Given the description of an element on the screen output the (x, y) to click on. 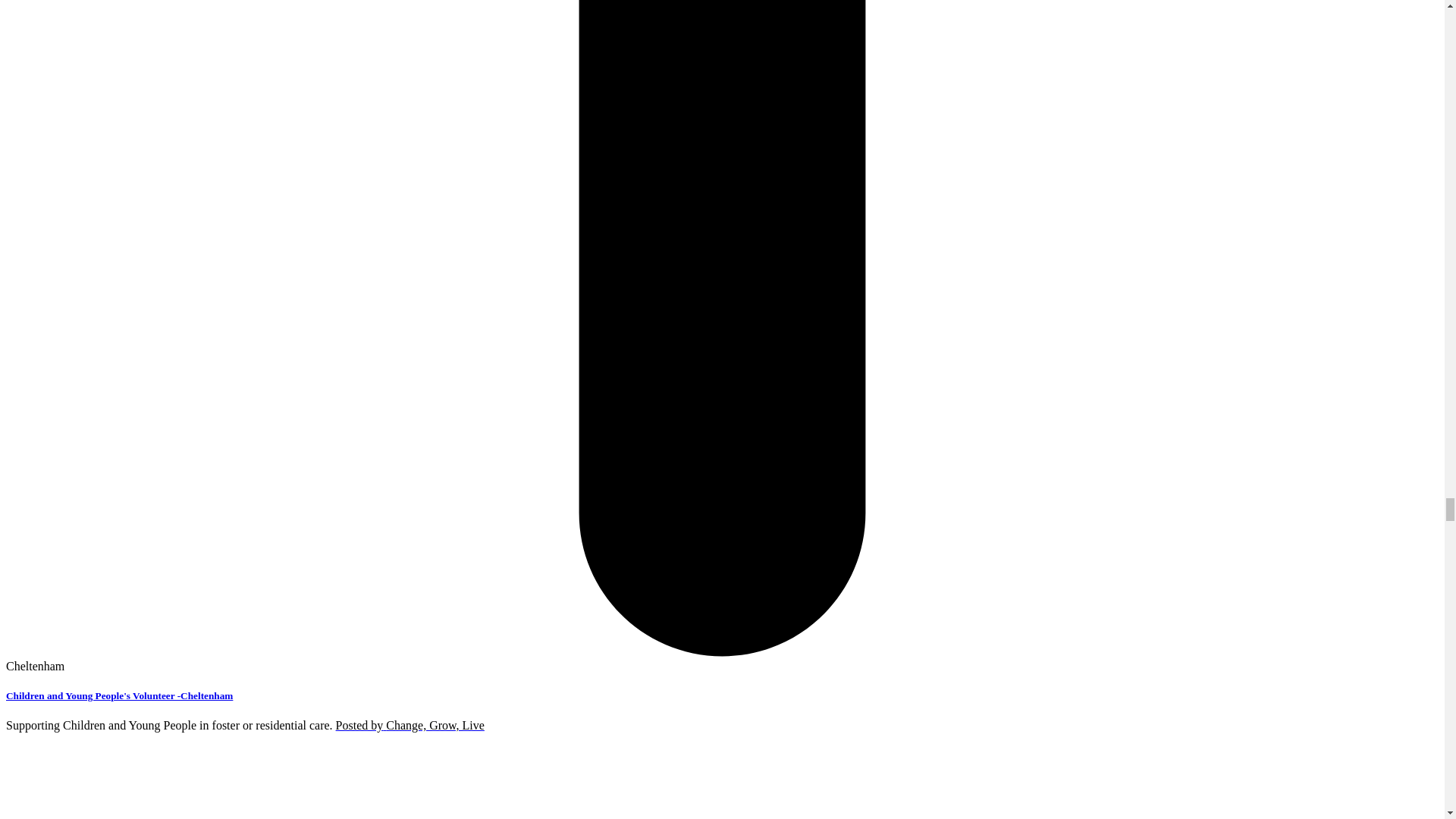
Posted by Change, Grow, Live (410, 725)
